Given the description of an element on the screen output the (x, y) to click on. 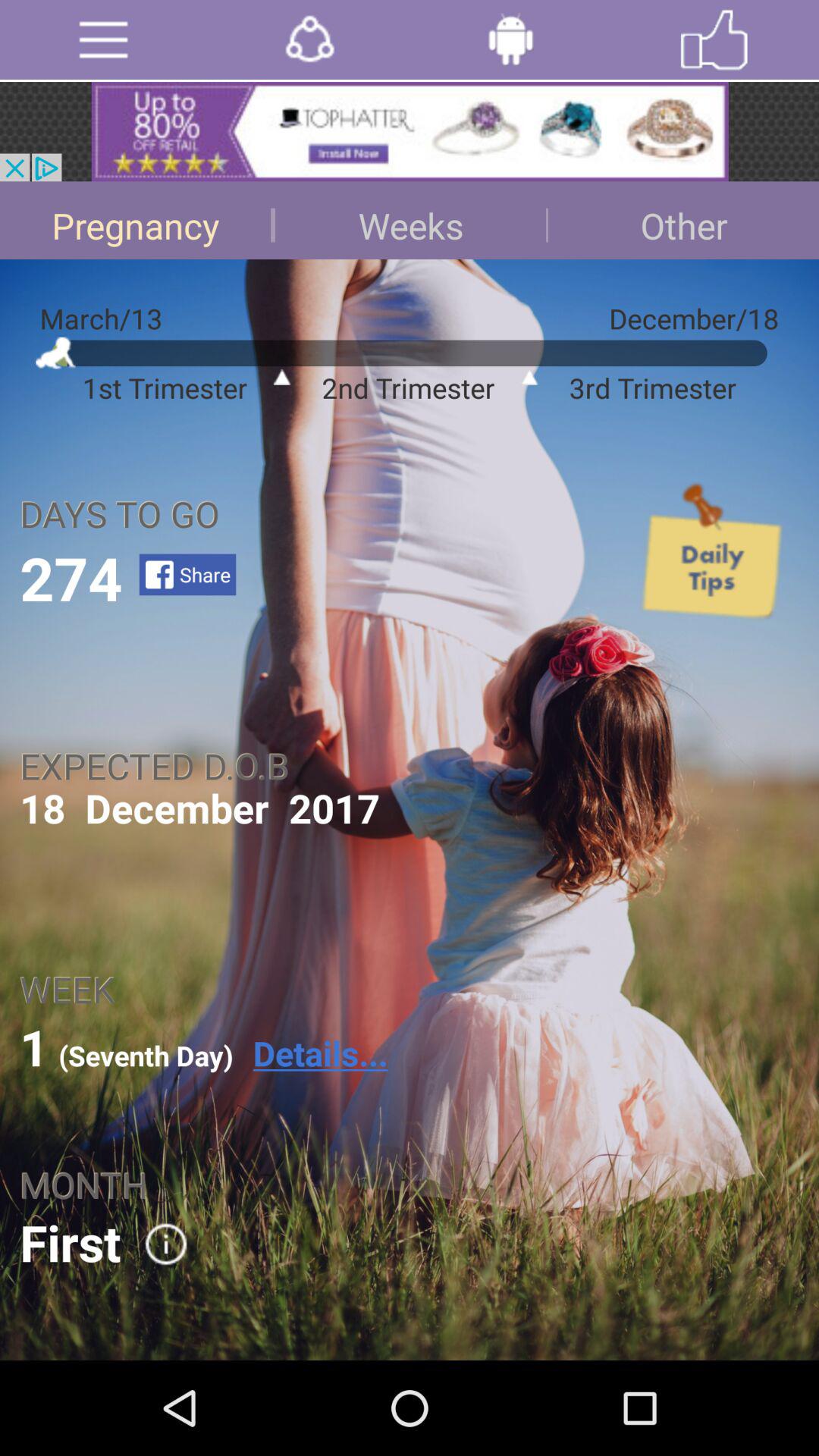
like (714, 39)
